Given the description of an element on the screen output the (x, y) to click on. 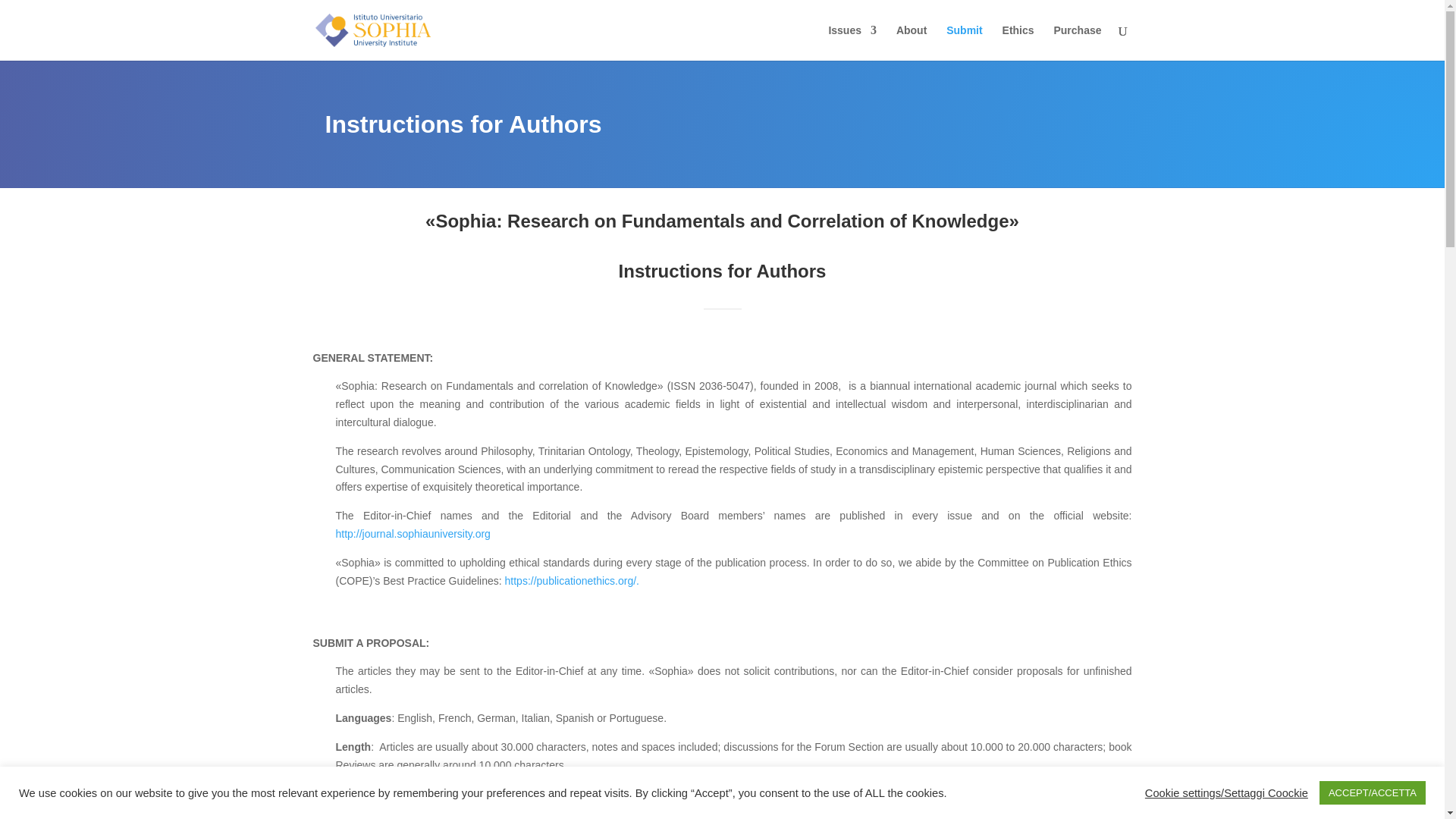
Issues (852, 42)
Submit (963, 42)
Ethics (1018, 42)
Purchase (1076, 42)
